Given the description of an element on the screen output the (x, y) to click on. 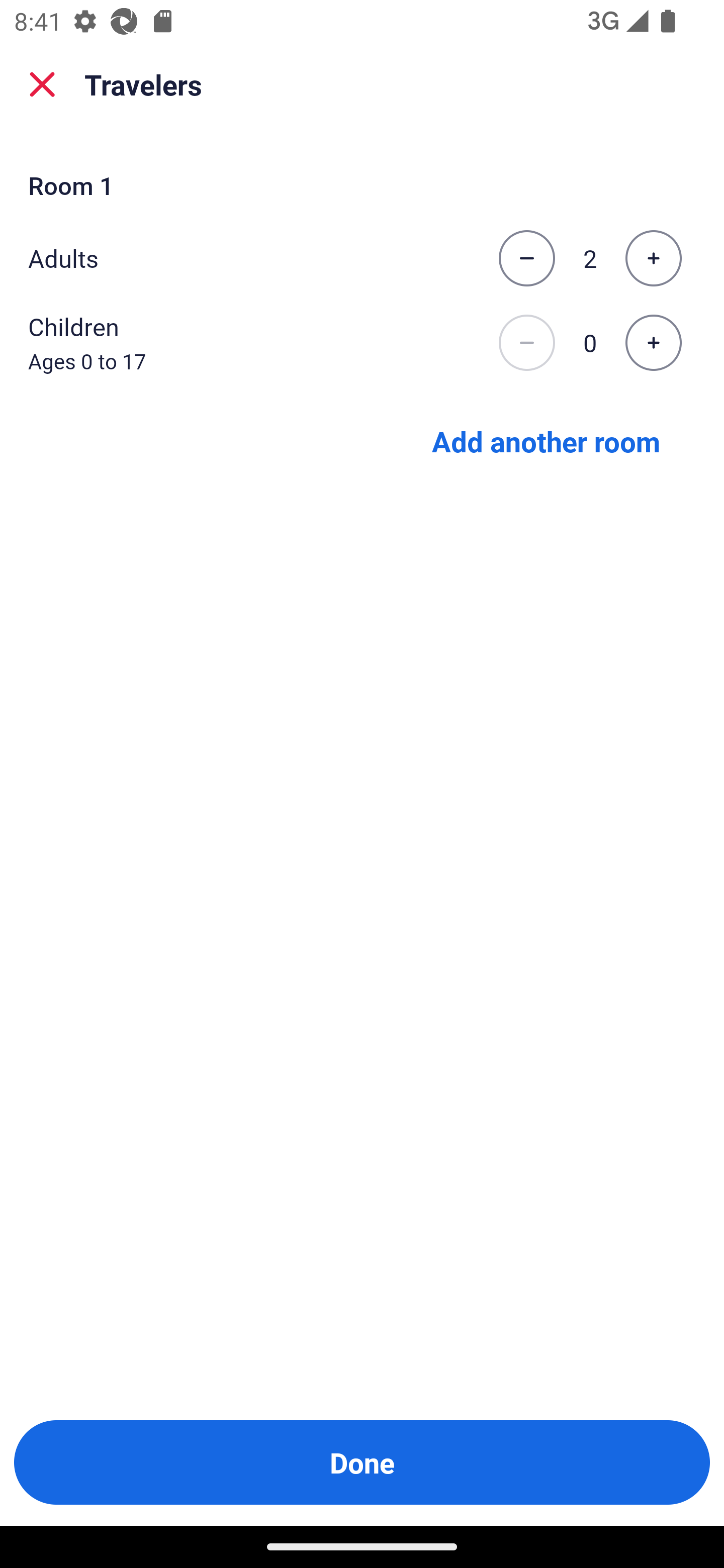
close (42, 84)
Decrease the number of adults (526, 258)
Increase the number of adults (653, 258)
Decrease the number of children (526, 343)
Increase the number of children (653, 343)
Add another room (545, 440)
Done (361, 1462)
